Given the description of an element on the screen output the (x, y) to click on. 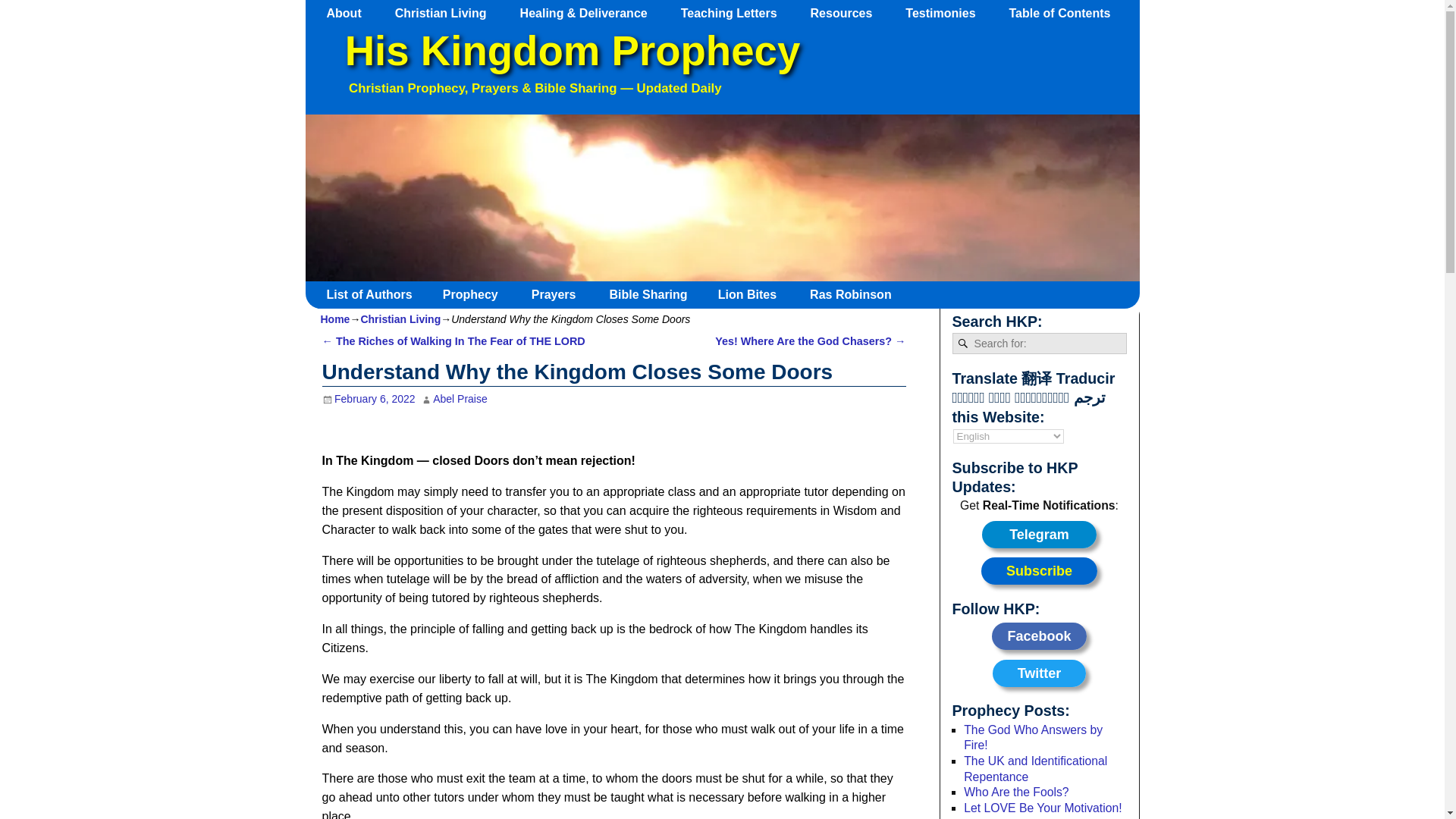
His Kingdom Prophecy (571, 50)
View all posts by Abel Praise (459, 398)
About (351, 13)
Christian Living (448, 13)
List of Authors (374, 294)
Teaching Letters (736, 13)
Table of Contents (1066, 13)
His Kingdom Prophecy (571, 50)
Resources (849, 13)
9:41 am (367, 398)
